Given the description of an element on the screen output the (x, y) to click on. 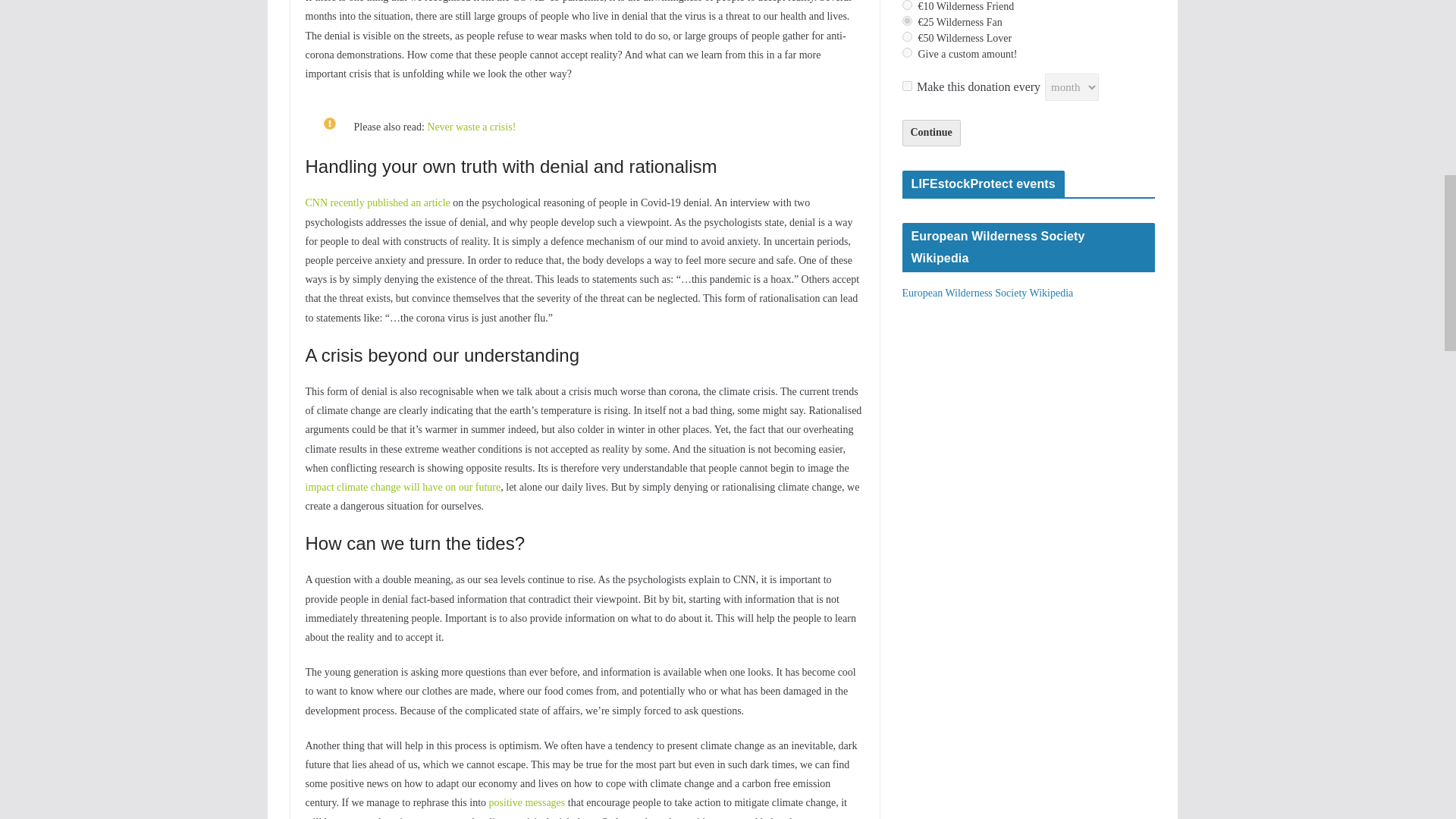
55.13 (907, 36)
custom (907, 52)
on (907, 85)
11.03 (907, 4)
27.56 (907, 20)
